Given the description of an element on the screen output the (x, y) to click on. 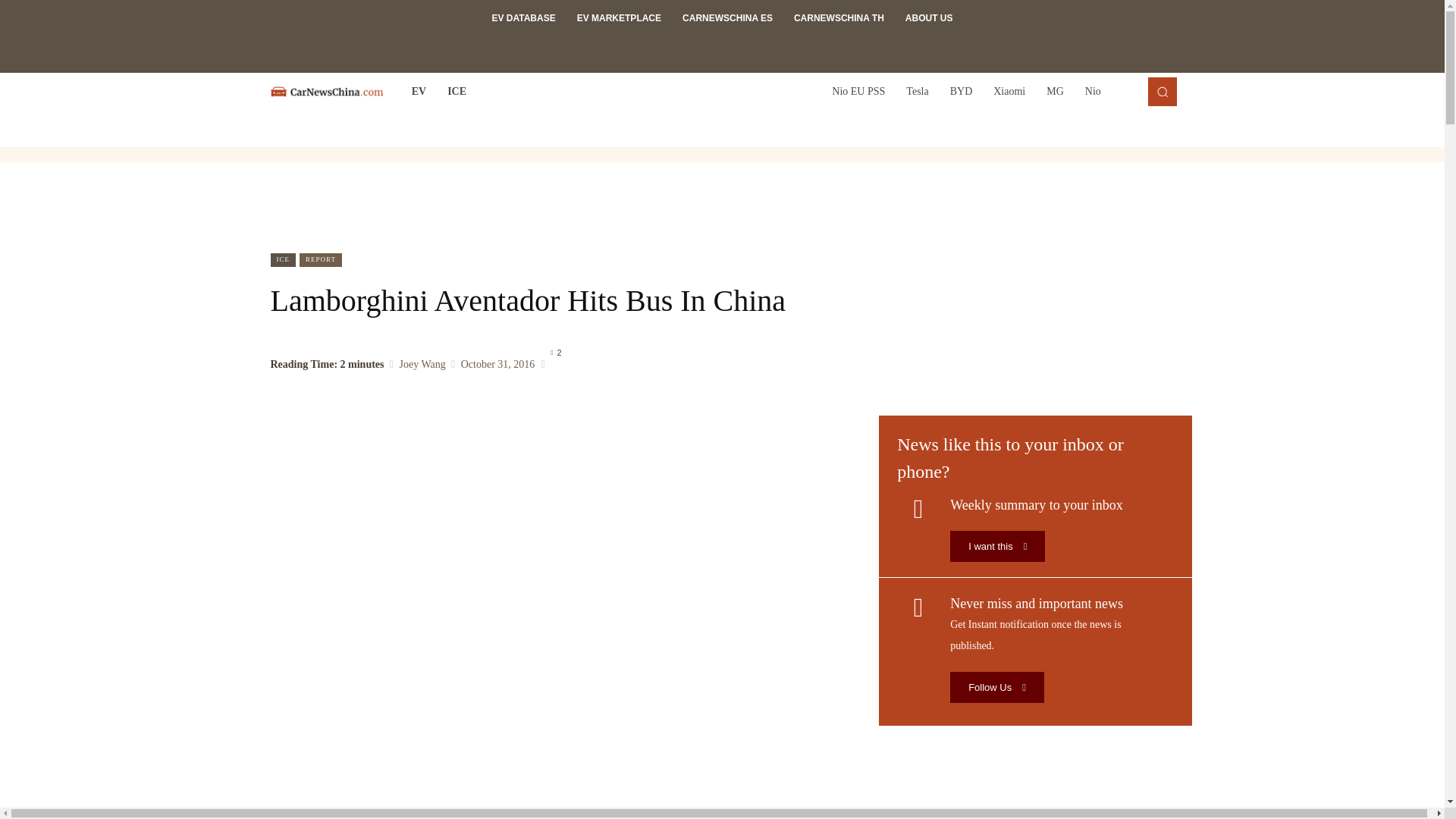
Nio EU PSS (858, 91)
BYD (961, 91)
MG (1054, 91)
EV MARKETPLACE (618, 18)
CARNEWSCHINA ES (727, 18)
Tesla (917, 91)
Advertisement (722, 207)
CARNEWSCHINA TH (839, 18)
Nio (1093, 91)
EV DATABASE (523, 18)
